Given the description of an element on the screen output the (x, y) to click on. 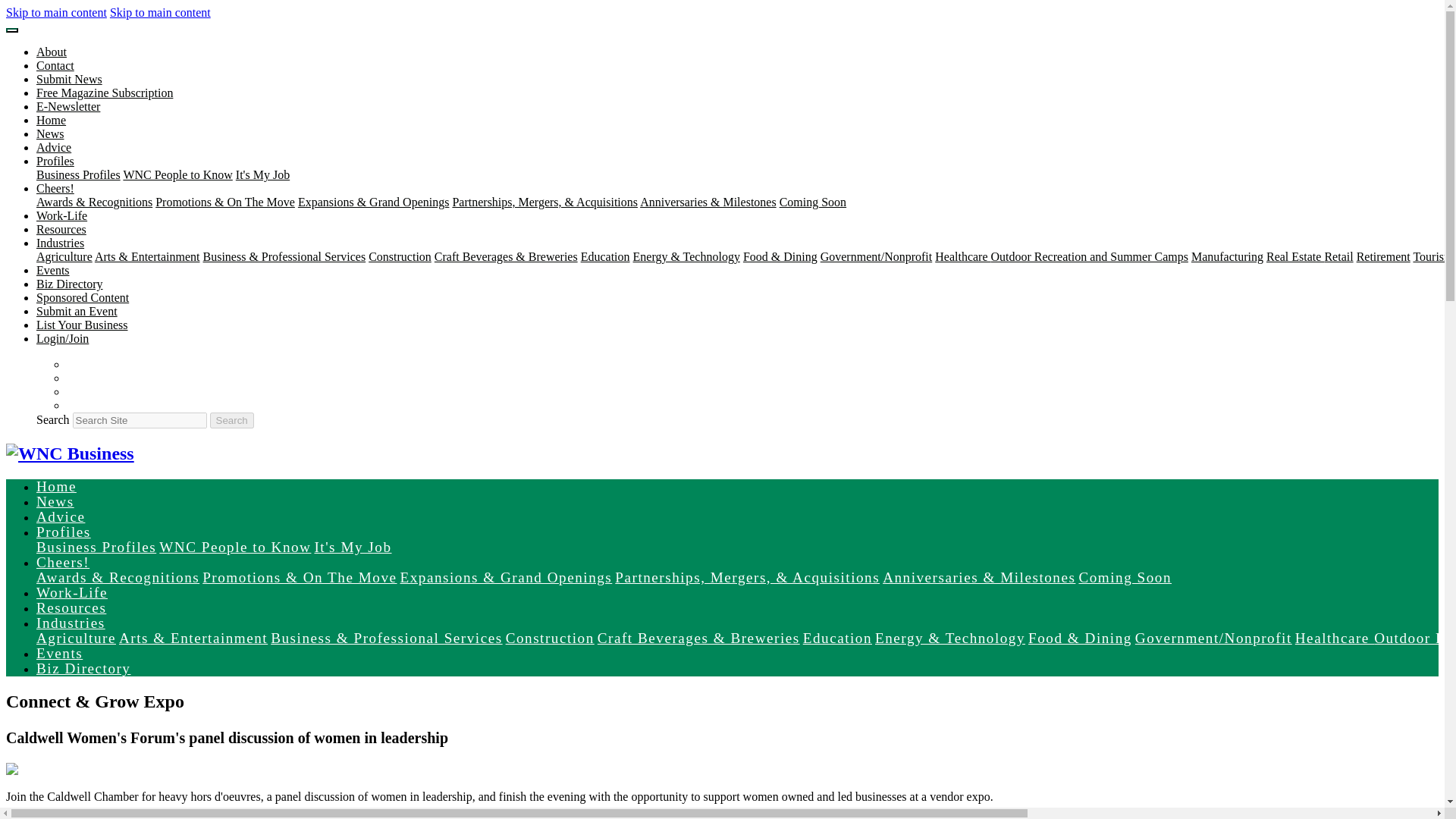
Cheers! (55, 187)
Resources (60, 228)
News (50, 133)
Real Estate (1294, 256)
Agriculture (64, 256)
Business Profiles (78, 174)
WNC People to Know (176, 174)
Free Magazine Subscription (104, 92)
Healthcare (962, 256)
Profiles (55, 160)
Construction (399, 256)
Coming Soon (811, 201)
Submit News (68, 78)
Industries (60, 242)
About (51, 51)
